Given the description of an element on the screen output the (x, y) to click on. 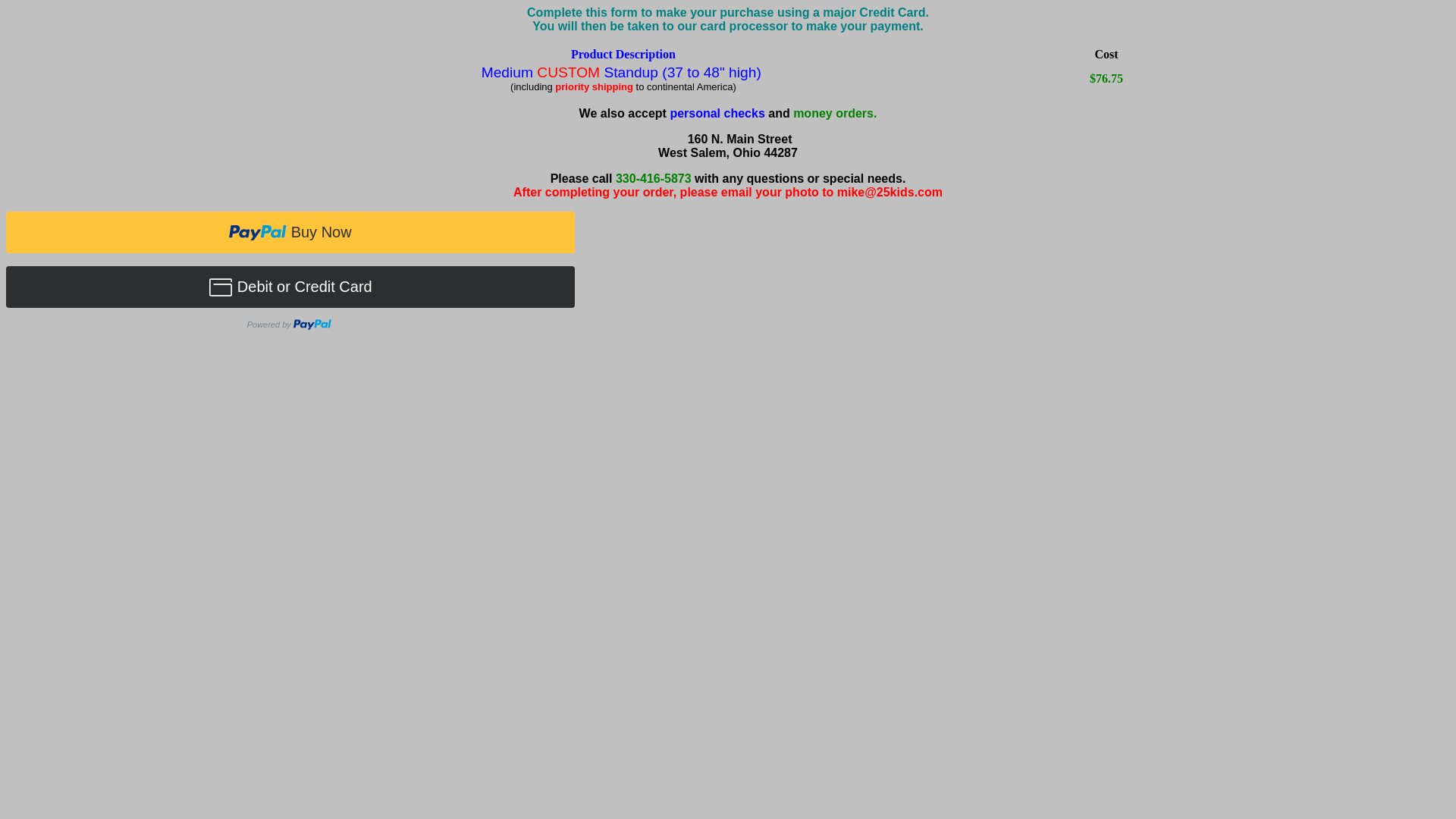
PayPal Element type: hover (727, 274)
